Given the description of an element on the screen output the (x, y) to click on. 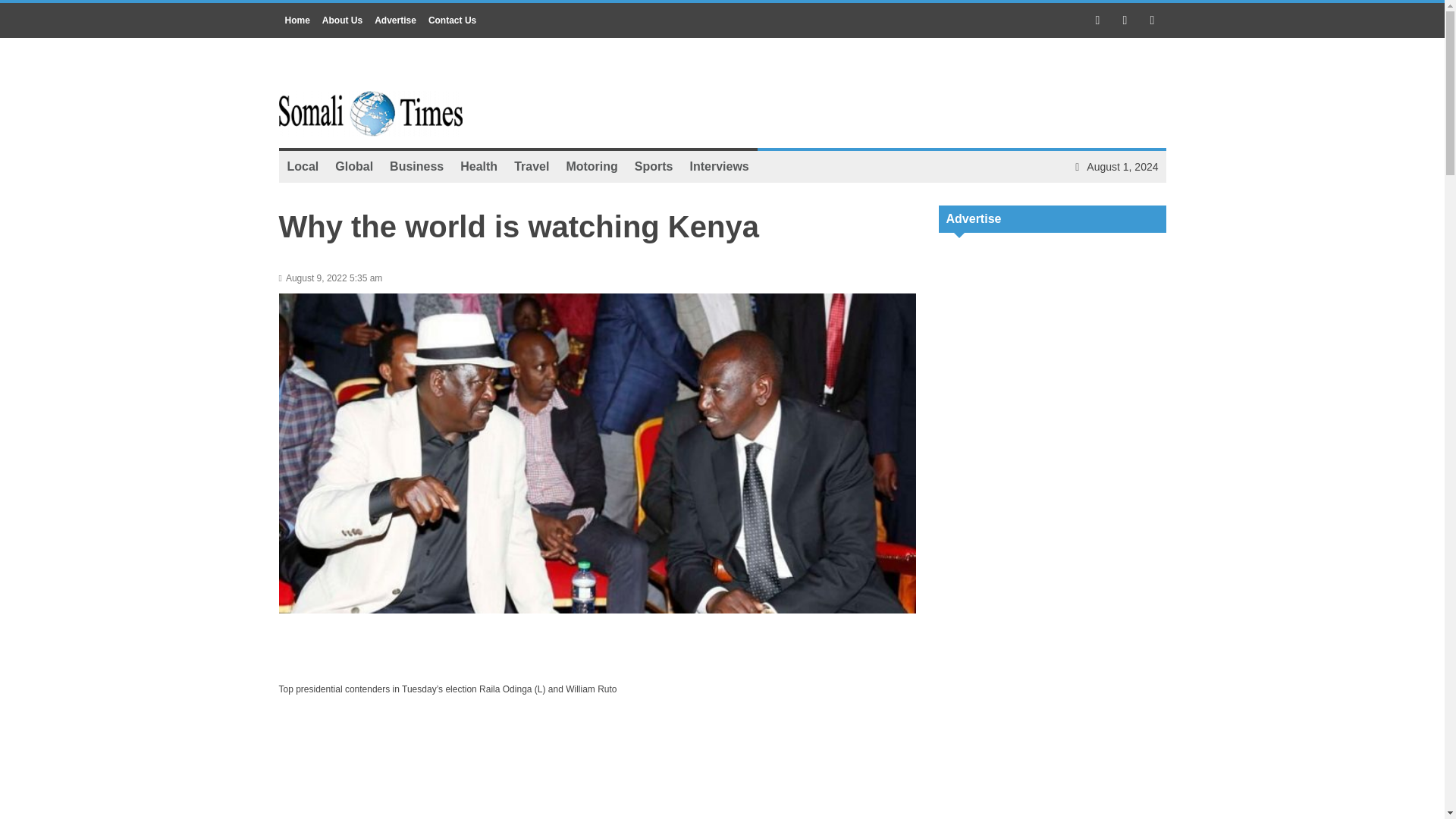
Sports (653, 166)
Home (297, 20)
Global (353, 166)
Death toll in Mogadishu Lido Beach attack has increased (556, 221)
Interviews (719, 166)
Global (684, 221)
Motoring (591, 166)
Local (303, 166)
Advertise (395, 20)
Local (434, 221)
